Given the description of an element on the screen output the (x, y) to click on. 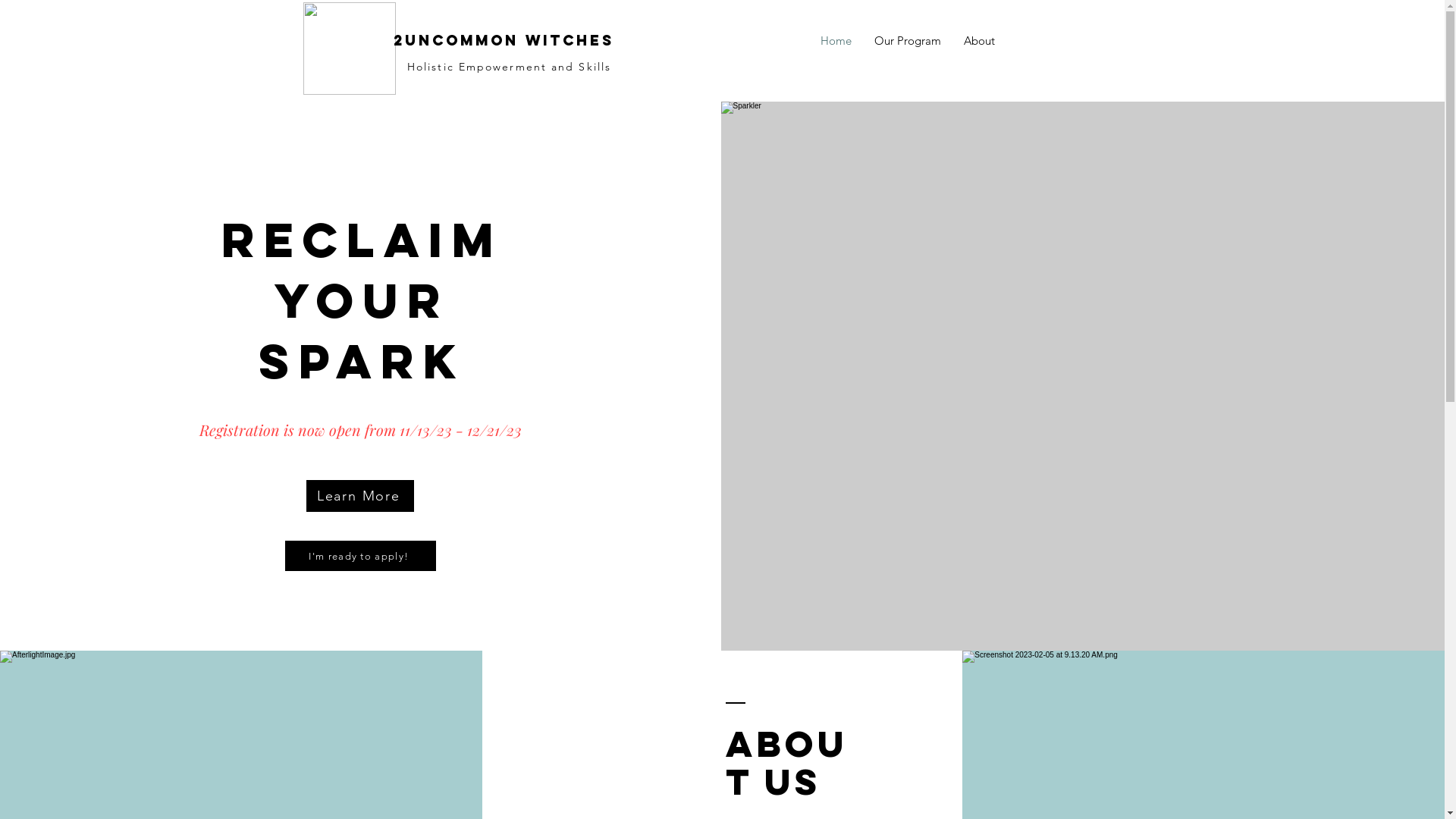
2Uncommon witches Element type: text (503, 40)
About Element type: text (979, 40)
Learn More Element type: text (360, 495)
Holistic Empowerment and Skills Element type: text (509, 66)
Our Program Element type: text (907, 40)
Witches Logo.jpeg Element type: hover (349, 48)
Home Element type: text (835, 40)
I'm ready to apply! Element type: text (360, 555)
